Given the description of an element on the screen output the (x, y) to click on. 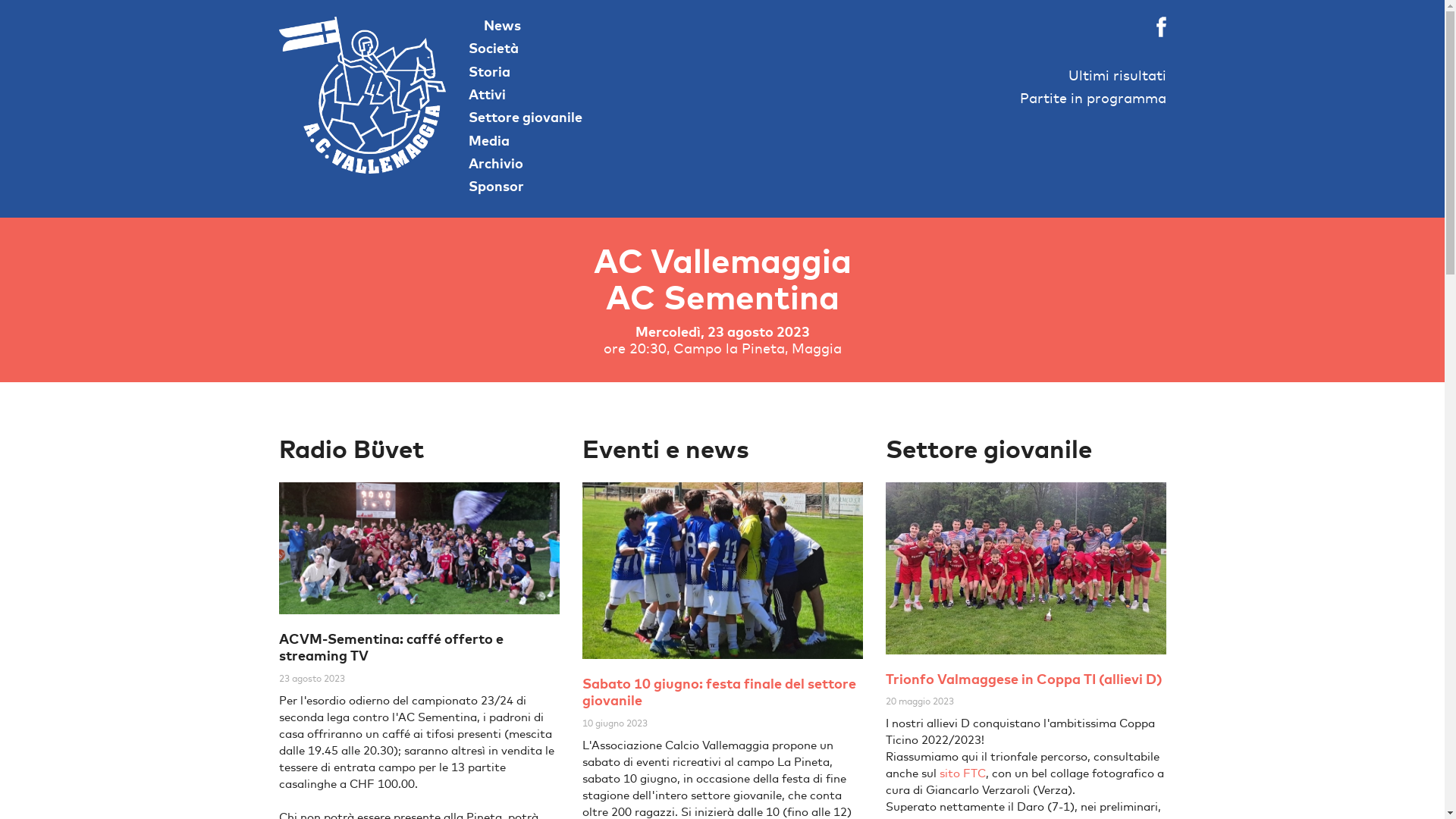
News Element type: text (494, 25)
Associazione Calcio Vallemaggia Element type: hover (362, 94)
Attivi Element type: text (486, 94)
Settore giovanile Element type: text (525, 116)
Media Element type: text (488, 140)
sito FTC Element type: text (960, 772)
Sabato 10 giugno: festa finale del settore giovanile Element type: text (719, 691)
Partite in programma Element type: text (1092, 97)
Sponsor Element type: text (496, 185)
Storia Element type: text (489, 71)
Trionfo Valmaggese in Coppa TI (allievi D) Element type: text (1023, 678)
Ultimi risultati Element type: text (1116, 75)
Archivio Element type: text (495, 163)
